Given the description of an element on the screen output the (x, y) to click on. 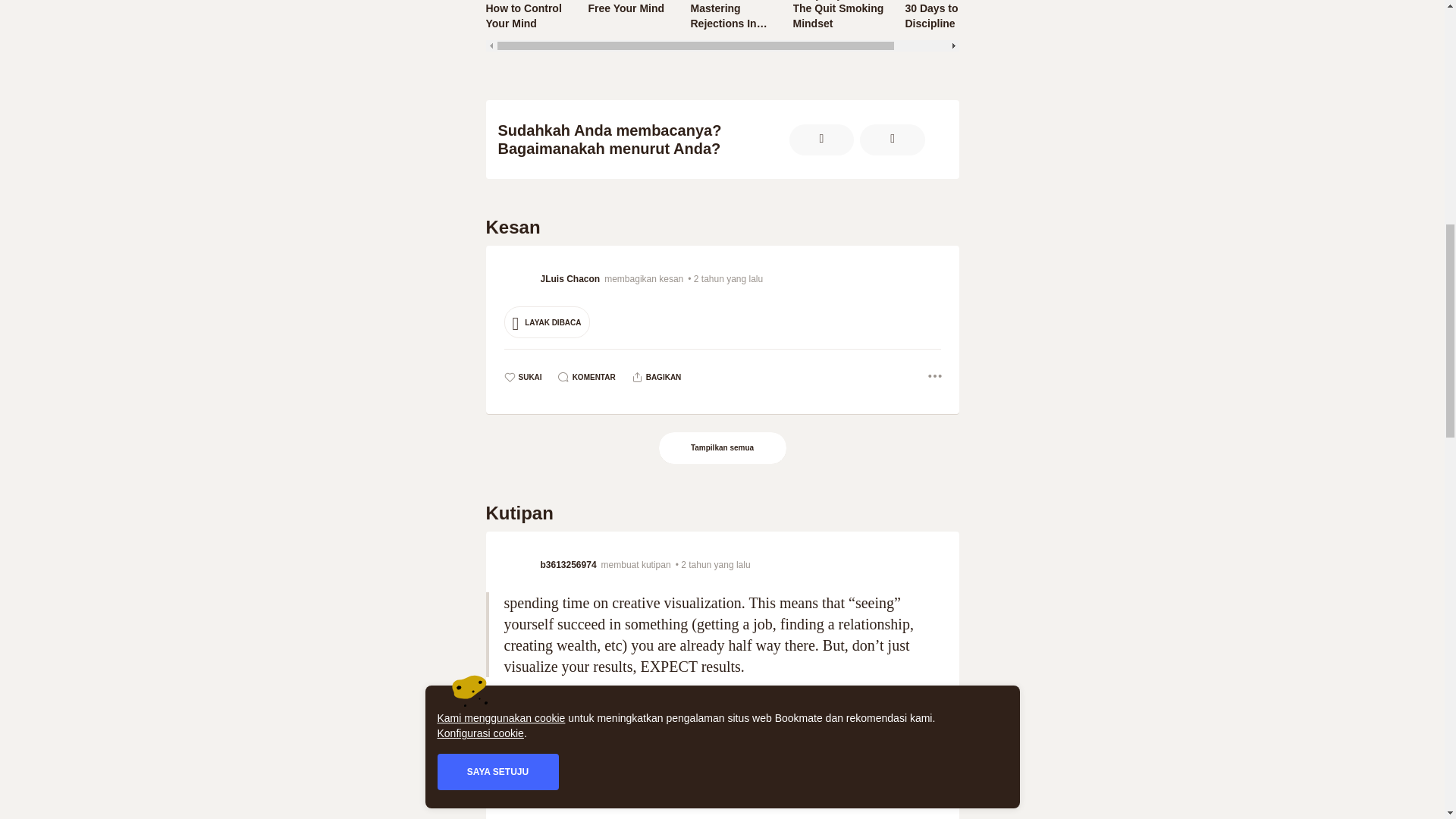
Tampilkan semua (722, 448)
The Quit Smoking Mindset (839, 15)
Tampilkan semua (722, 448)
Mastering Rejections In One Sitting (731, 15)
Free Your Mind (839, 15)
The Quit Smoking Mindset (629, 7)
Henry Kay (839, 15)
